Given the description of an element on the screen output the (x, y) to click on. 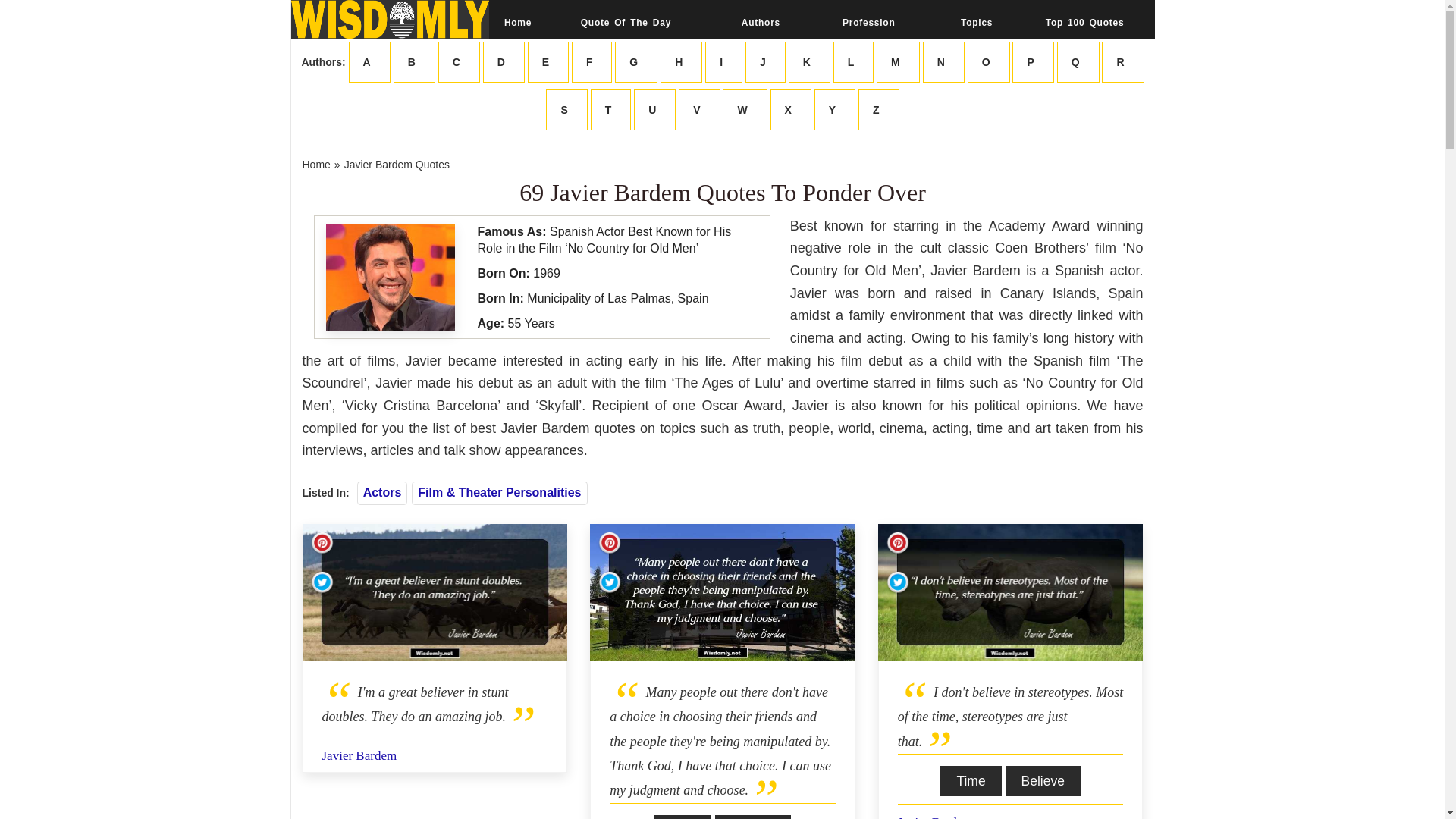
U (654, 109)
F (592, 61)
J (765, 61)
M (898, 61)
Actors (381, 492)
W (744, 109)
L (853, 61)
N (943, 61)
Home (517, 22)
R (1122, 61)
